Given the description of an element on the screen output the (x, y) to click on. 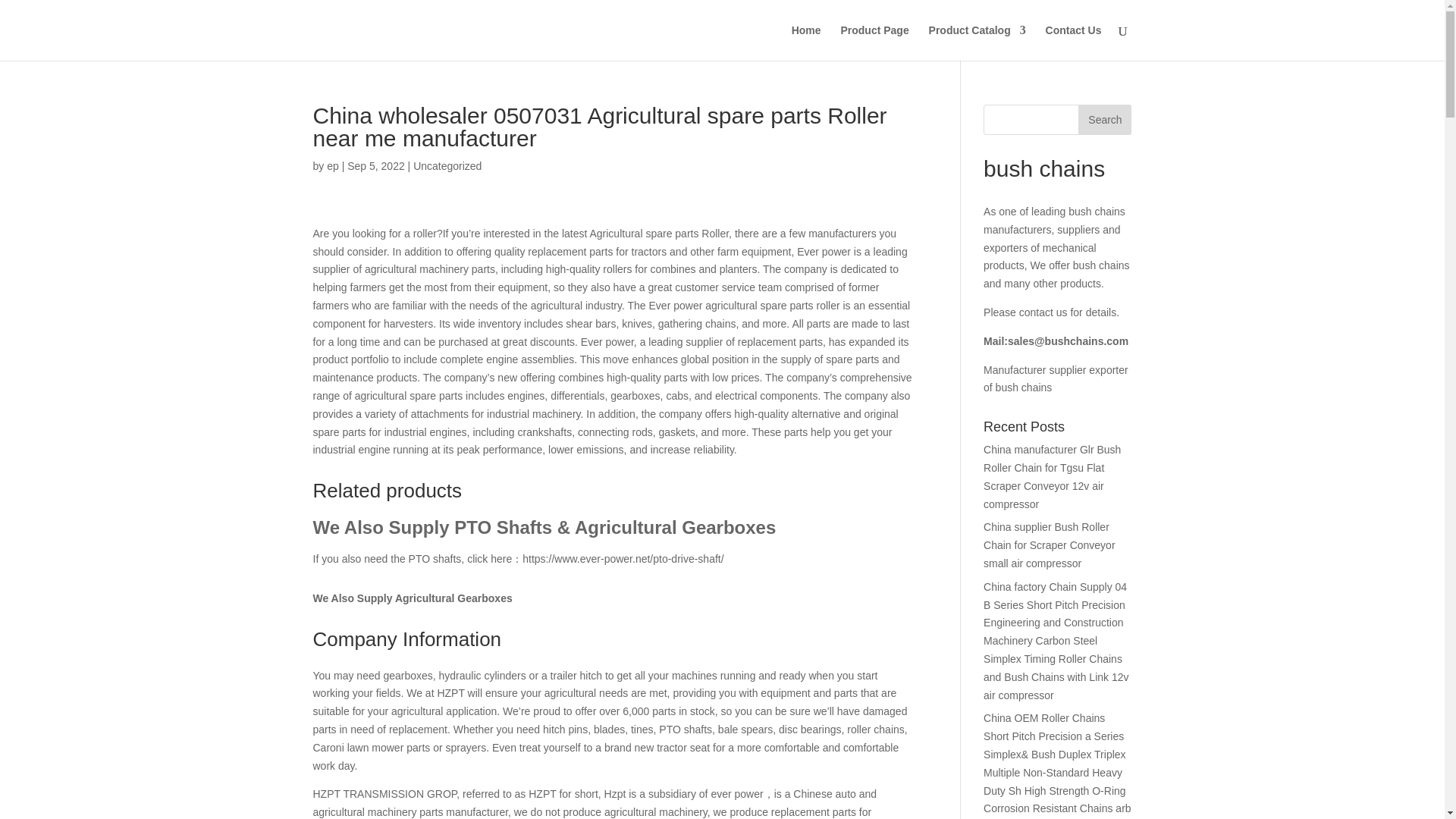
Product Page (874, 42)
Posts by ep (332, 165)
Search (1104, 119)
Contact Us (1073, 42)
Search (1104, 119)
ep (332, 165)
Home (806, 42)
Uncategorized (447, 165)
Product Catalog (977, 42)
